Given the description of an element on the screen output the (x, y) to click on. 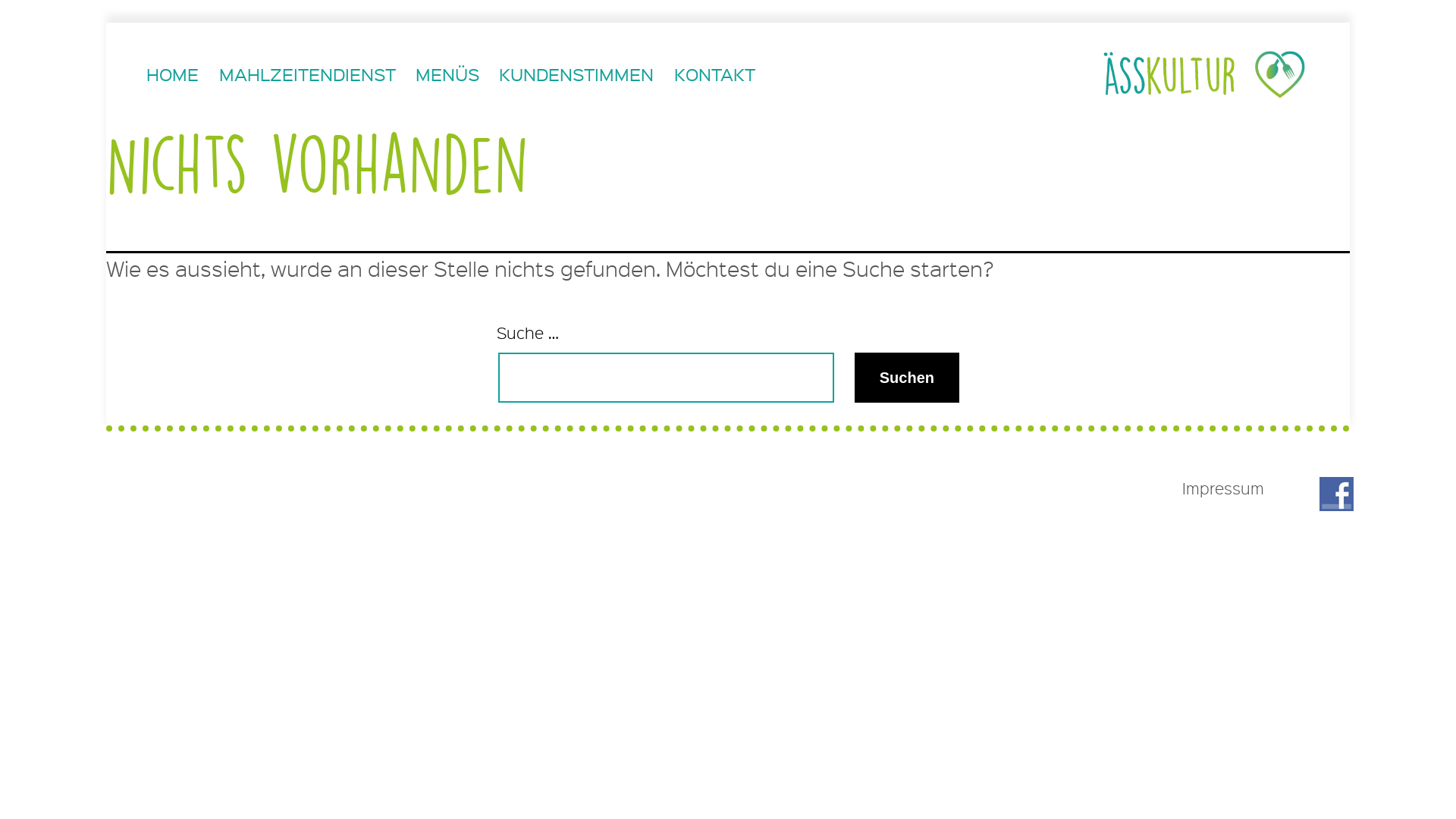
MAHLZEITENDIENST Element type: text (306, 73)
KONTAKT Element type: text (714, 73)
Zum Inhalt springen Element type: text (105, 21)
Impressum Element type: text (1223, 487)
Suchen Element type: text (906, 377)
KUNDENSTIMMEN Element type: text (576, 73)
HOME Element type: text (172, 73)
